Given the description of an element on the screen output the (x, y) to click on. 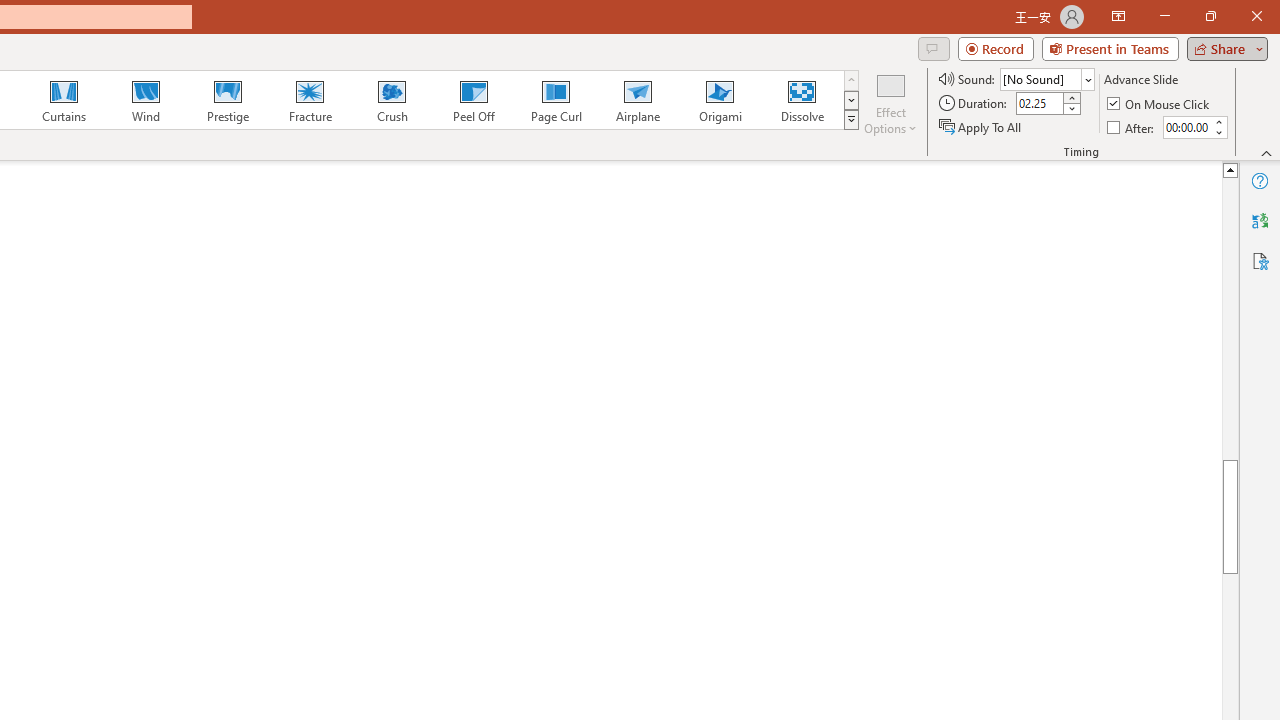
Duration (1039, 103)
Effect Options (890, 102)
After (1131, 126)
Peel Off (473, 100)
Dissolve (802, 100)
Wind (145, 100)
Sound (1046, 78)
Transition Effects (850, 120)
Apply To All (981, 126)
